Given the description of an element on the screen output the (x, y) to click on. 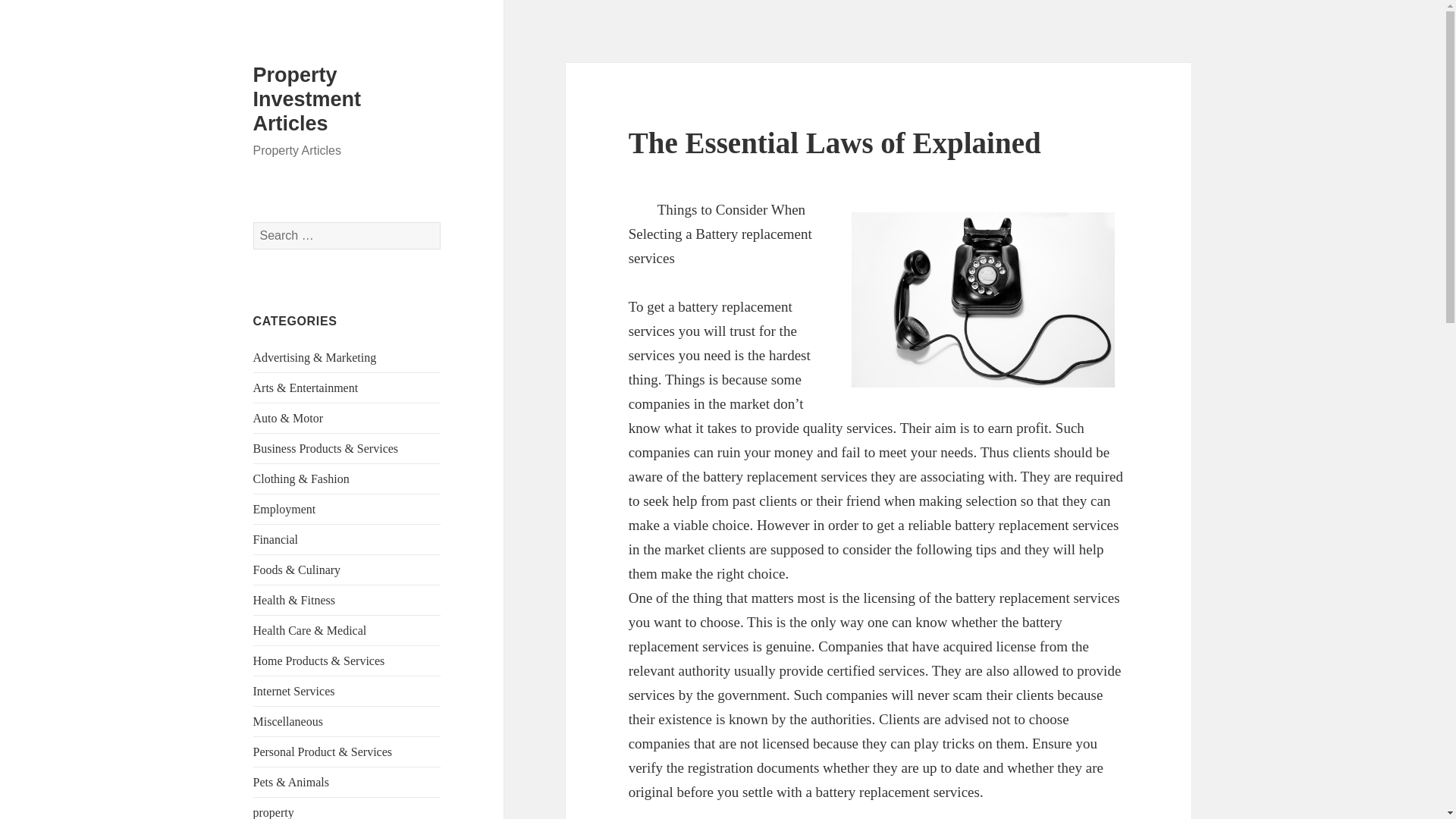
Internet Services (293, 690)
Employment (284, 508)
Financial (275, 539)
Miscellaneous (288, 721)
property (273, 812)
Property Investment Articles (307, 99)
